Given the description of an element on the screen output the (x, y) to click on. 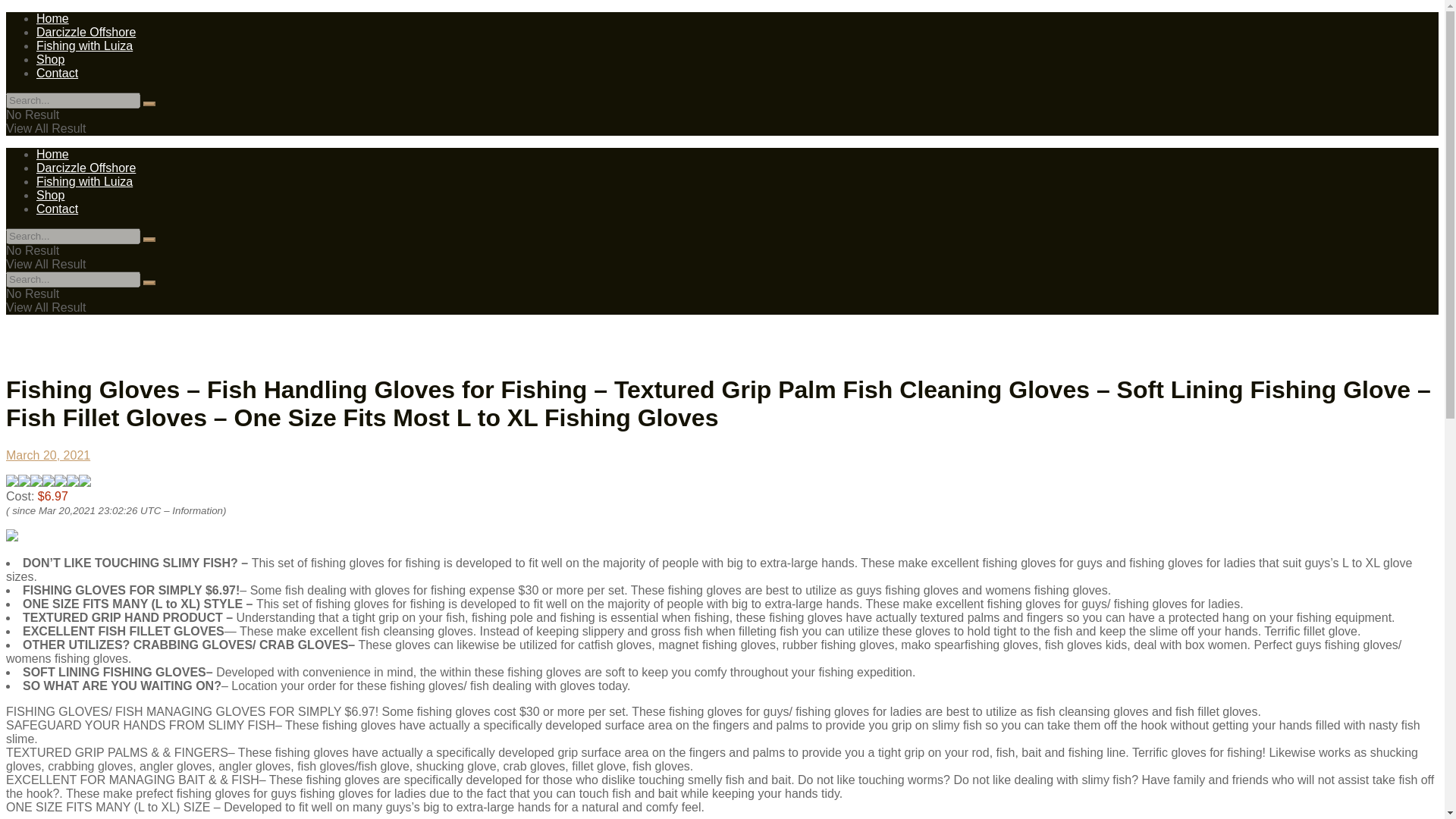
Darcizzle Offshore (85, 31)
Shop (50, 195)
Darcizzle Offshore (85, 167)
Contact (57, 72)
Home (52, 18)
Contact (57, 208)
Fishing with Luiza (84, 181)
March 20, 2021 (47, 454)
Home (52, 154)
Shop (50, 59)
Fishing with Luiza (84, 45)
